Given the description of an element on the screen output the (x, y) to click on. 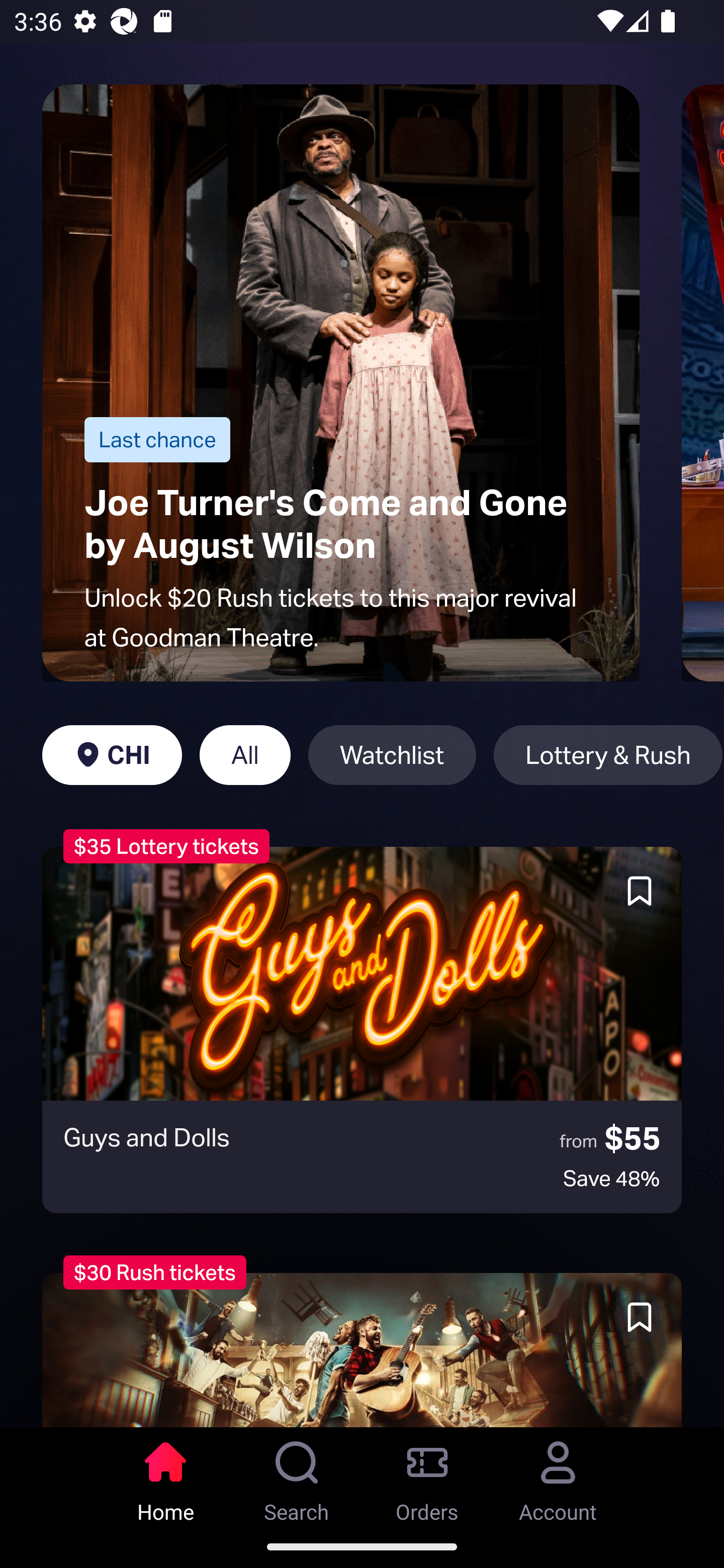
CHI (111, 754)
All (244, 754)
Watchlist (392, 754)
Lottery & Rush (607, 754)
Guys and Dolls from $55 Save 48% (361, 1029)
Search (296, 1475)
Orders (427, 1475)
Account (558, 1475)
